Given the description of an element on the screen output the (x, y) to click on. 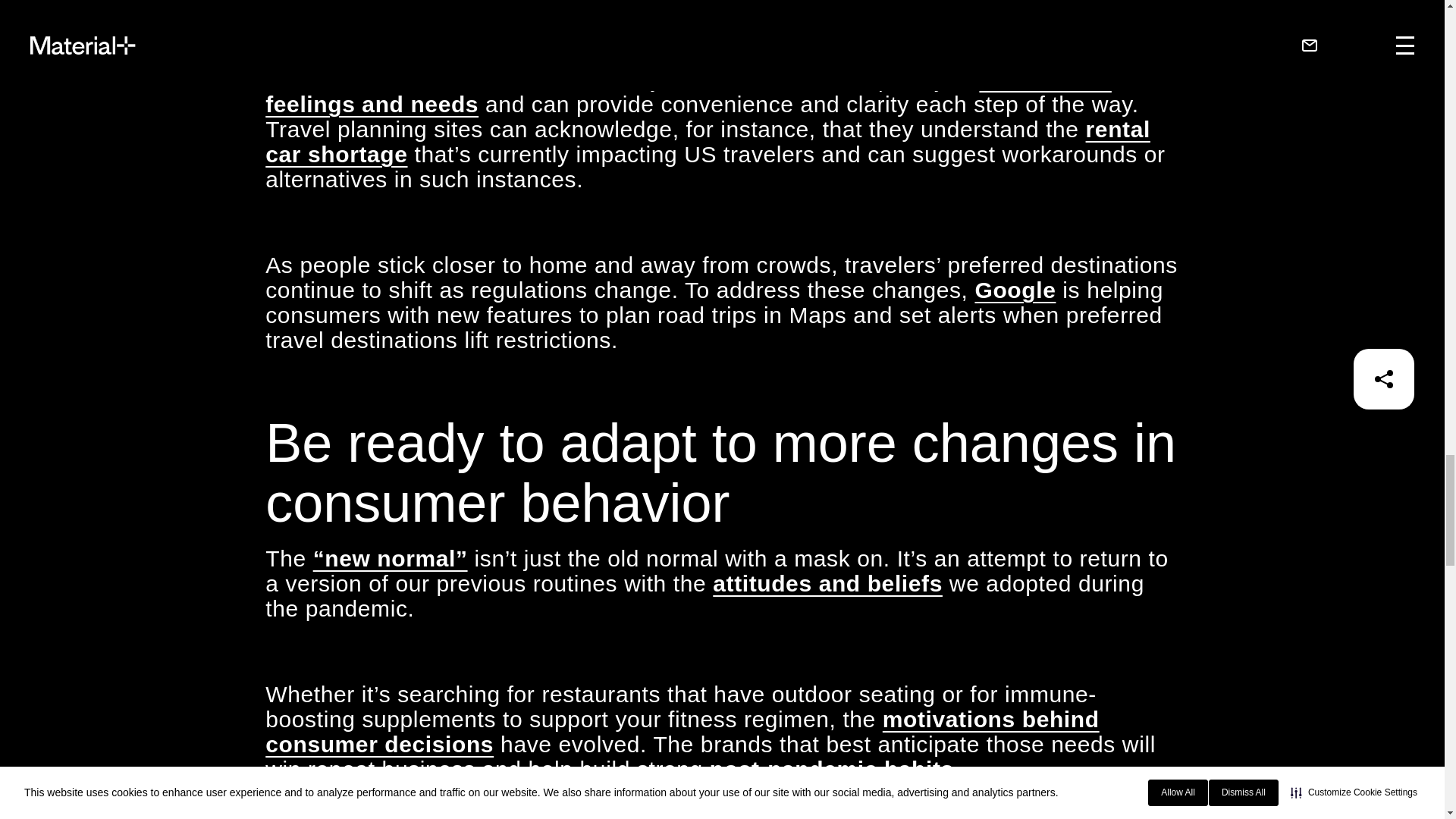
rental car shortage (707, 142)
post-pandemic habits (831, 769)
Google (1014, 289)
motivations behind consumer decisions (681, 731)
attitudes and beliefs (827, 583)
